Given the description of an element on the screen output the (x, y) to click on. 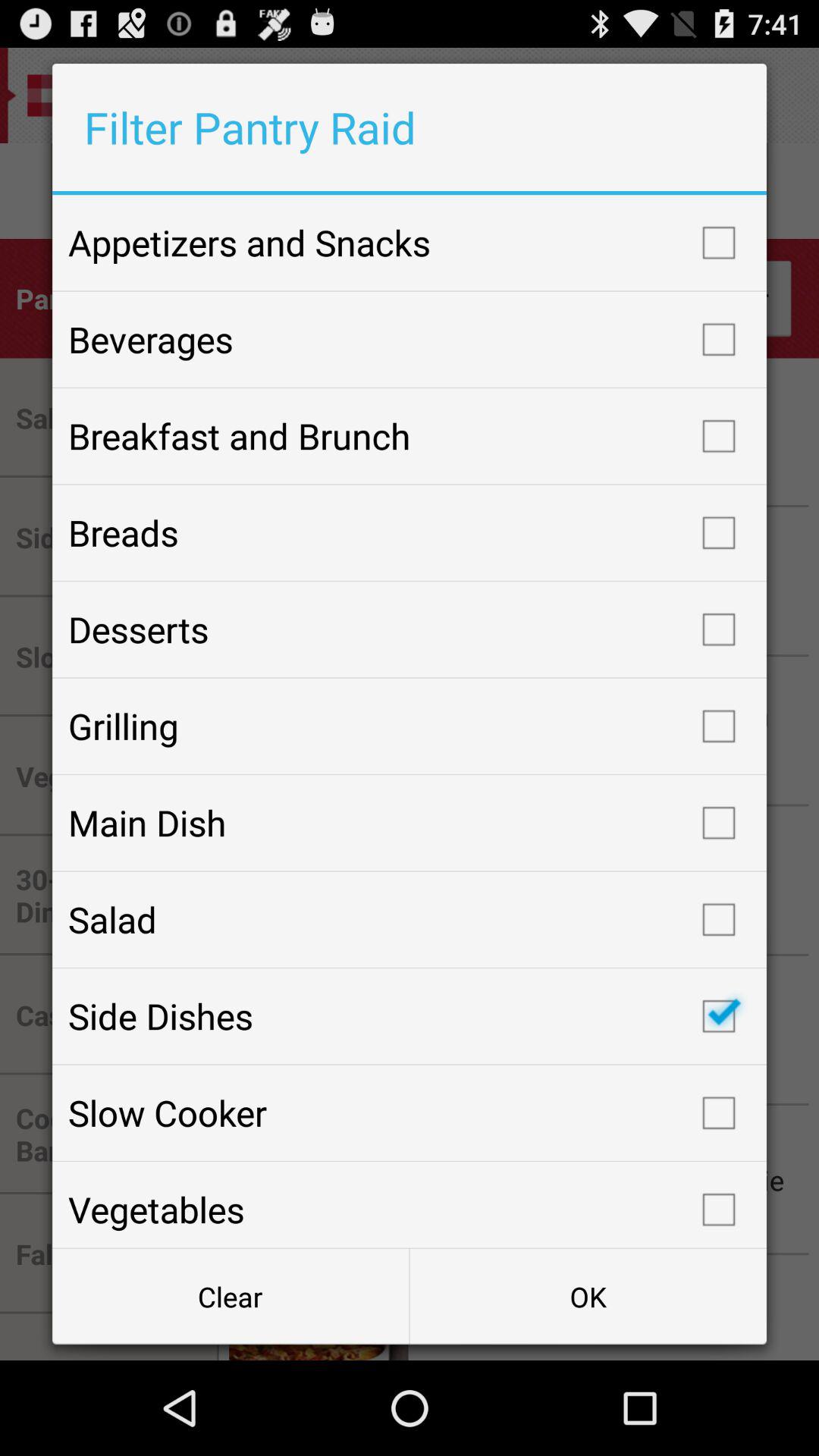
turn off desserts icon (409, 629)
